Given the description of an element on the screen output the (x, y) to click on. 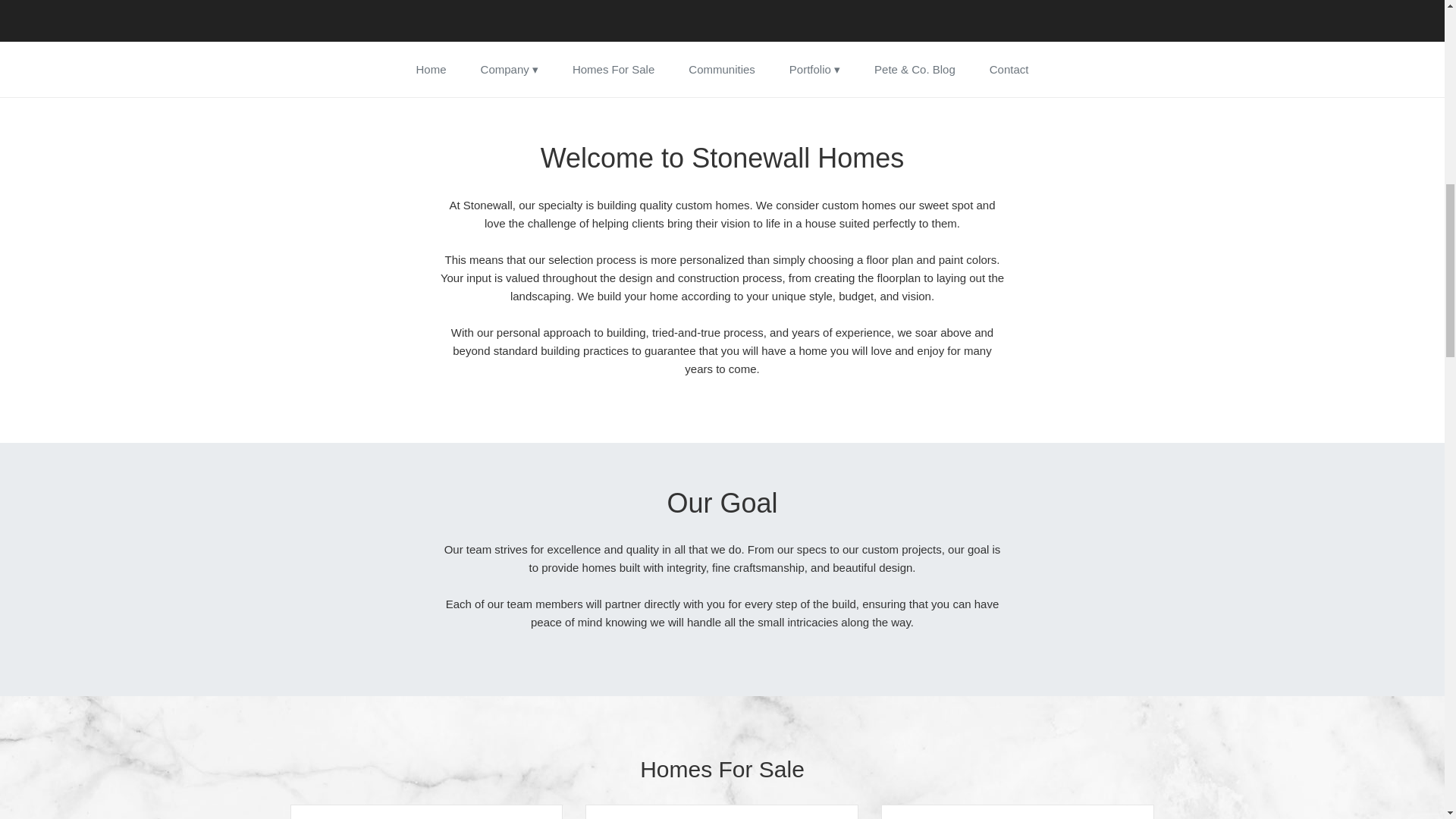
Company (509, 69)
Homes For Sale (612, 69)
Communities (721, 69)
Portfolio (814, 69)
